Given the description of an element on the screen output the (x, y) to click on. 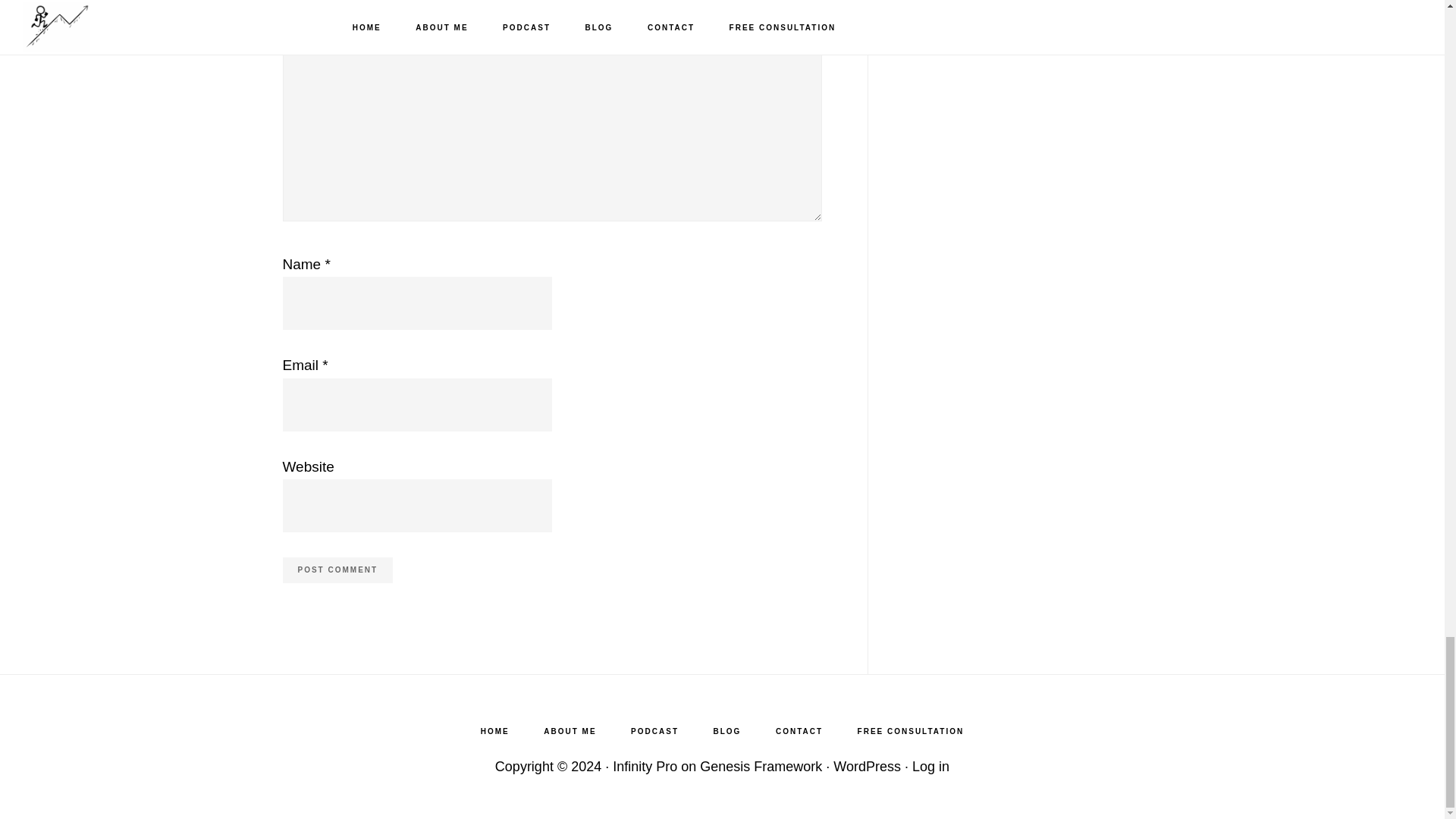
ABOUT ME (569, 731)
Post Comment (337, 570)
HOME (494, 731)
Post Comment (337, 570)
